Given the description of an element on the screen output the (x, y) to click on. 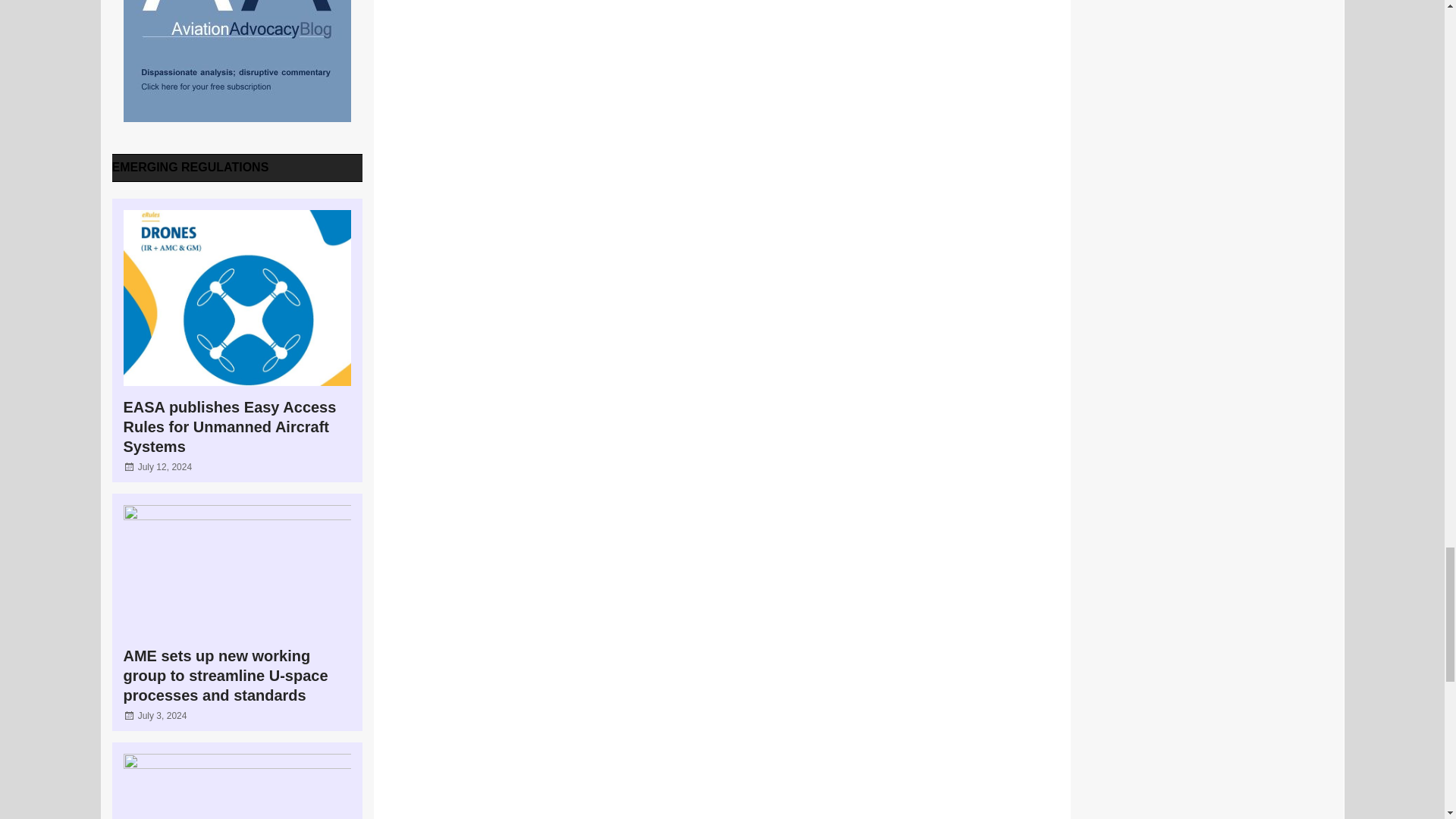
View all posts from category Emerging regulations (190, 166)
8:22 am (165, 466)
6:58 pm (162, 715)
